Given the description of an element on the screen output the (x, y) to click on. 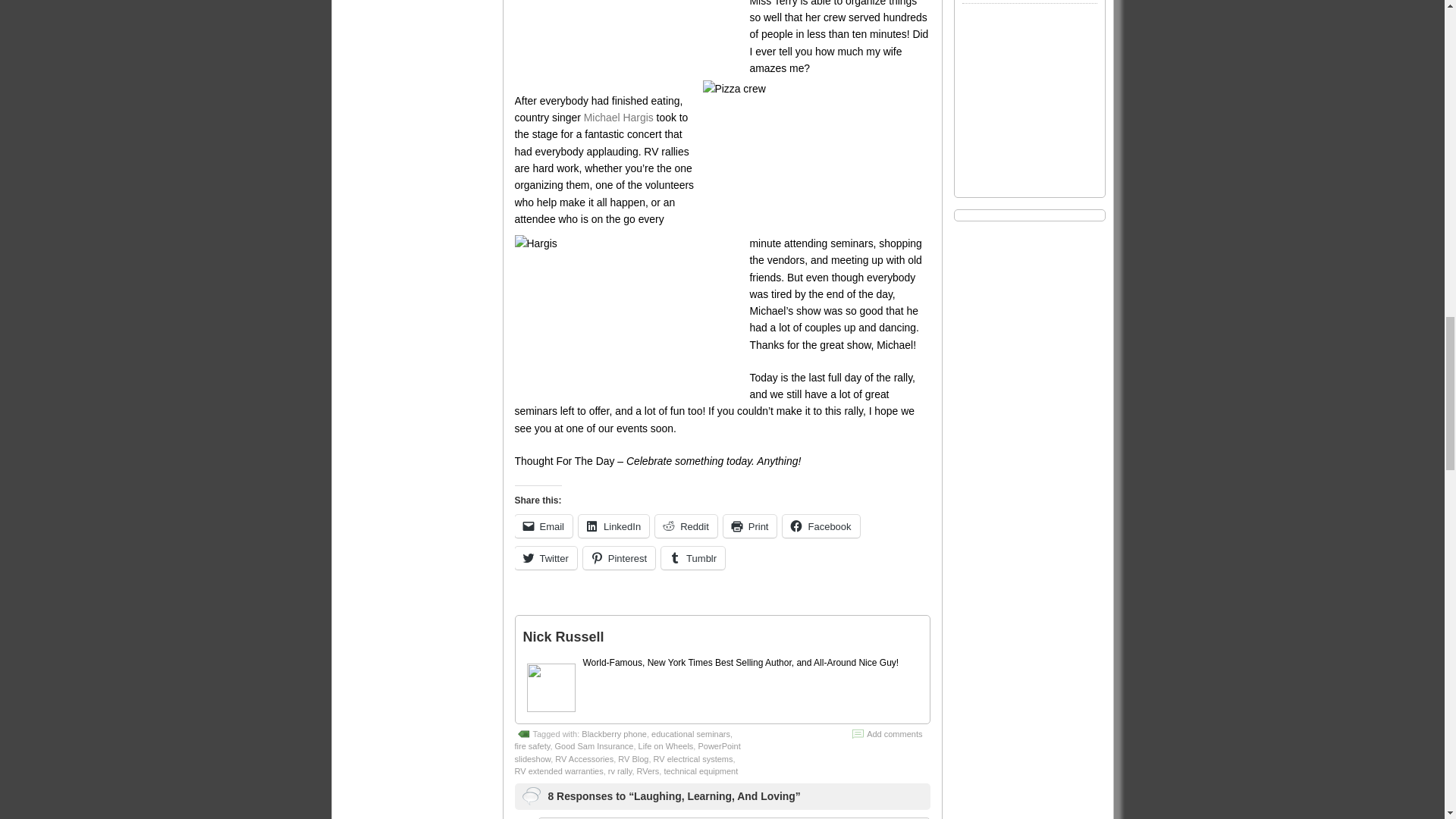
Tumblr (693, 558)
Add comments (893, 733)
Blackberry phone (613, 733)
Good Sam Insurance (593, 746)
Hargis (627, 310)
Pizza crew (815, 155)
Life on Wheels (666, 746)
Reddit (686, 526)
RV electrical systems (693, 758)
fire safety (531, 746)
